Given the description of an element on the screen output the (x, y) to click on. 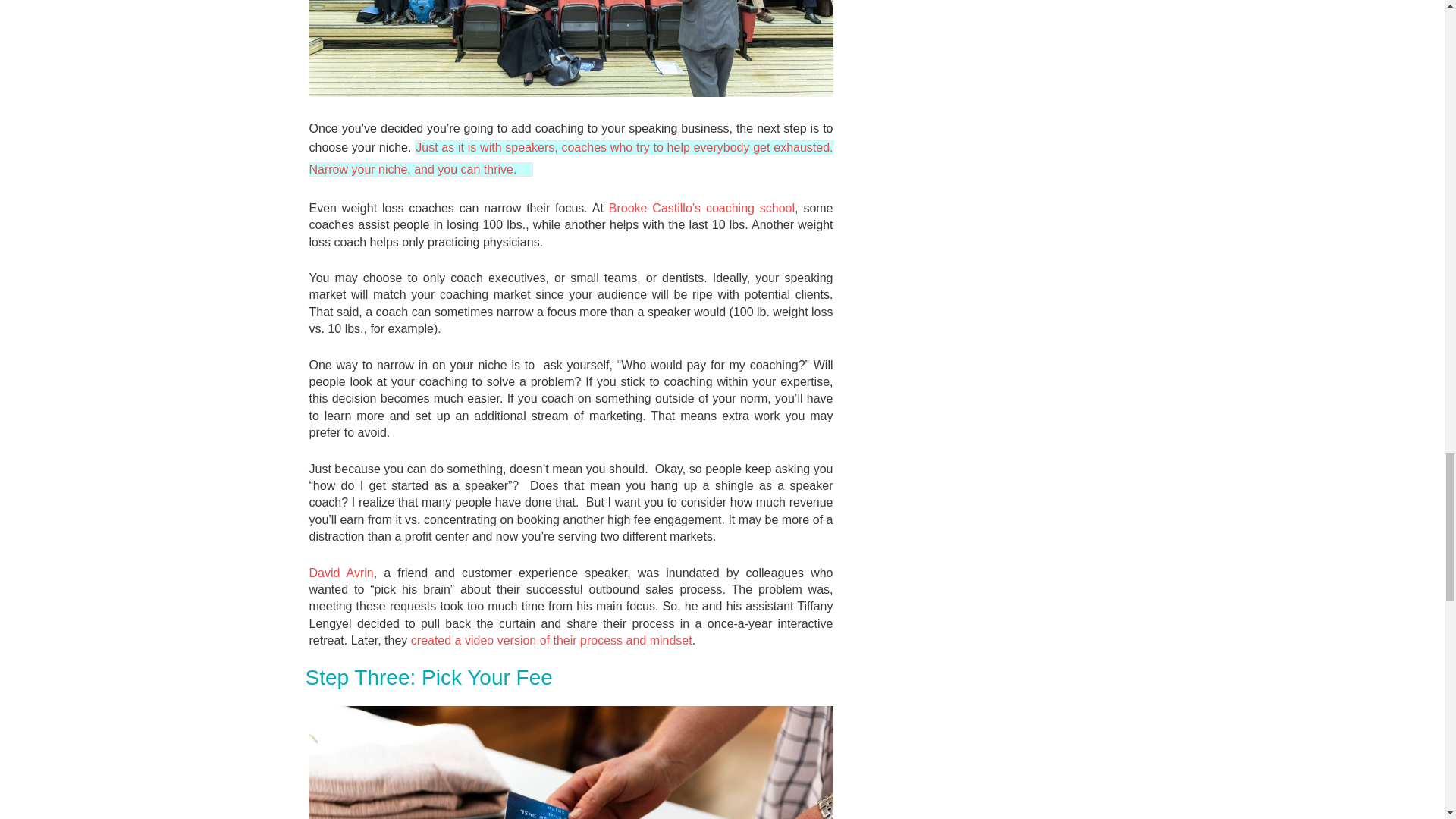
created a video version of their process and mindset (551, 640)
David Avrin (341, 572)
